Given the description of an element on the screen output the (x, y) to click on. 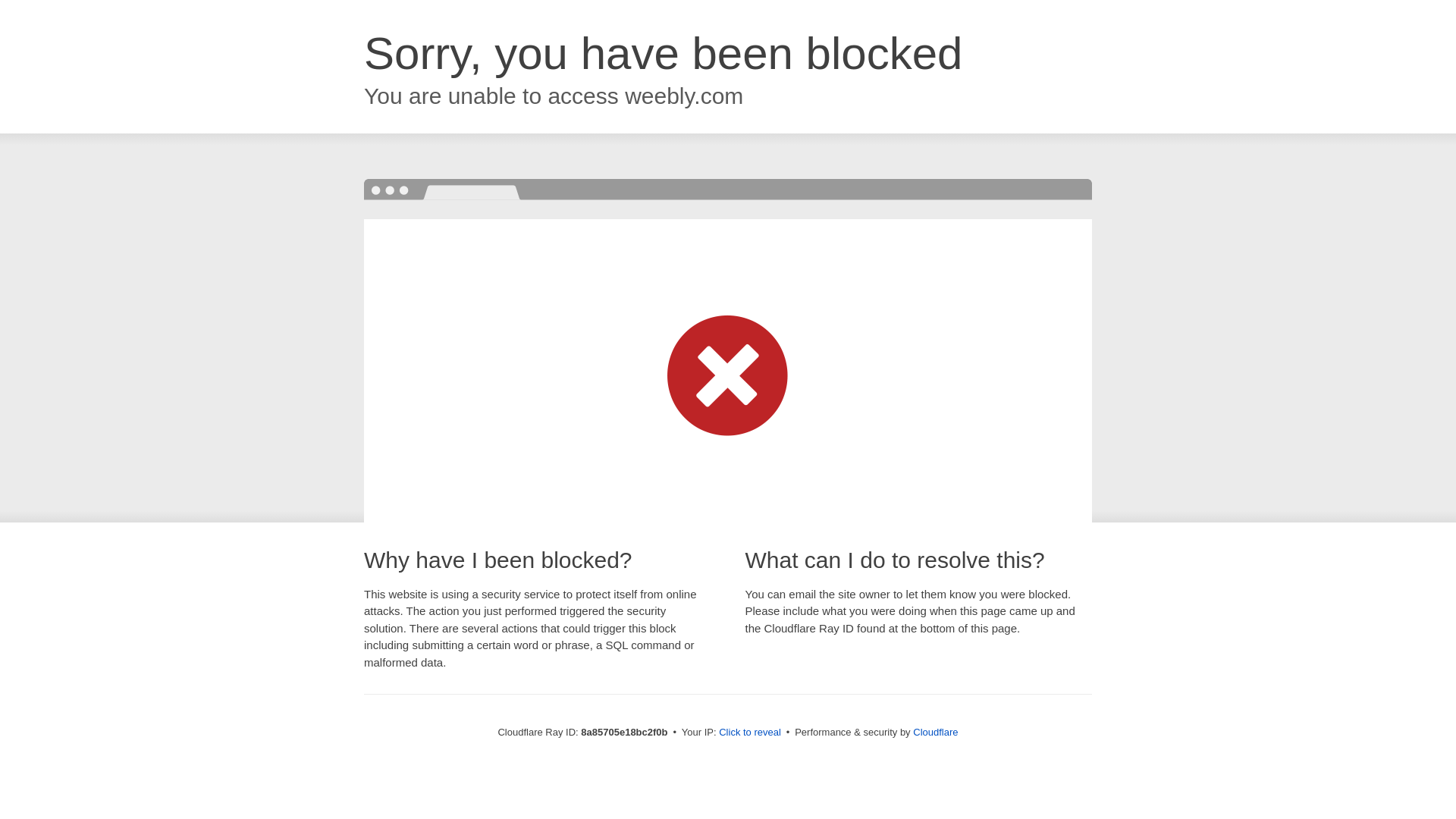
Click to reveal (749, 732)
Cloudflare (935, 731)
